Given the description of an element on the screen output the (x, y) to click on. 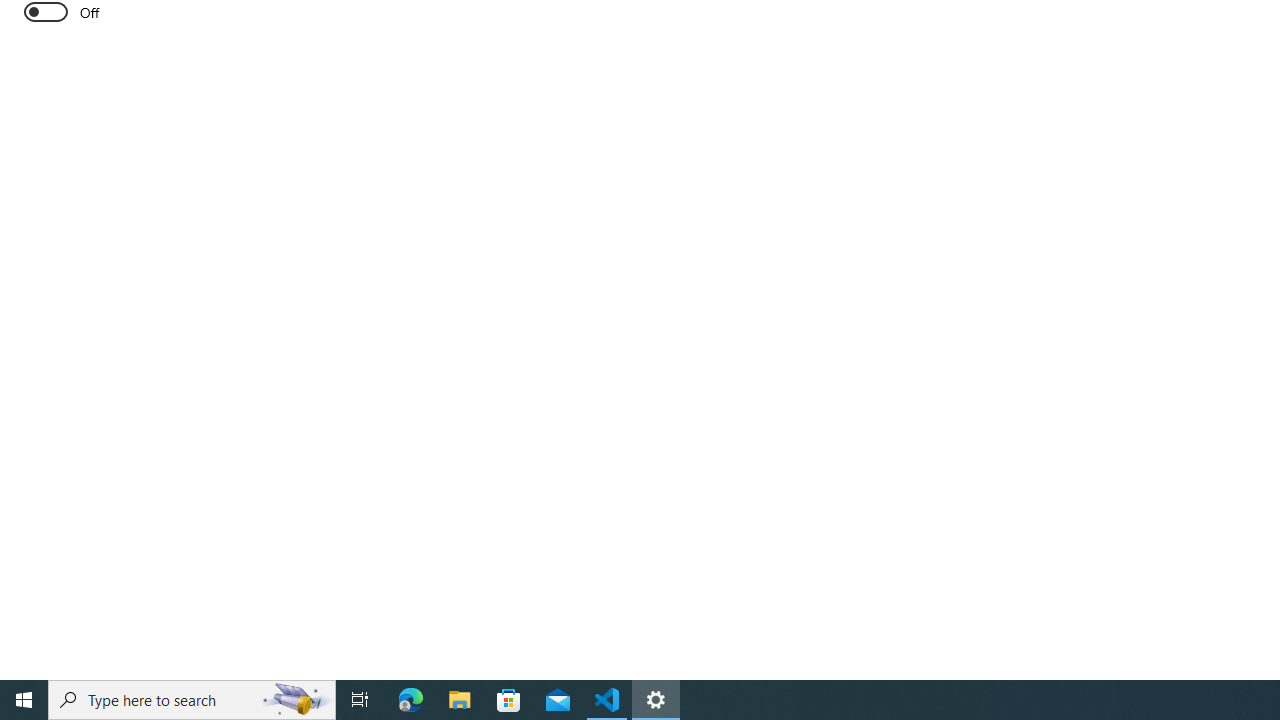
Settings - 1 running window (656, 699)
